Given the description of an element on the screen output the (x, y) to click on. 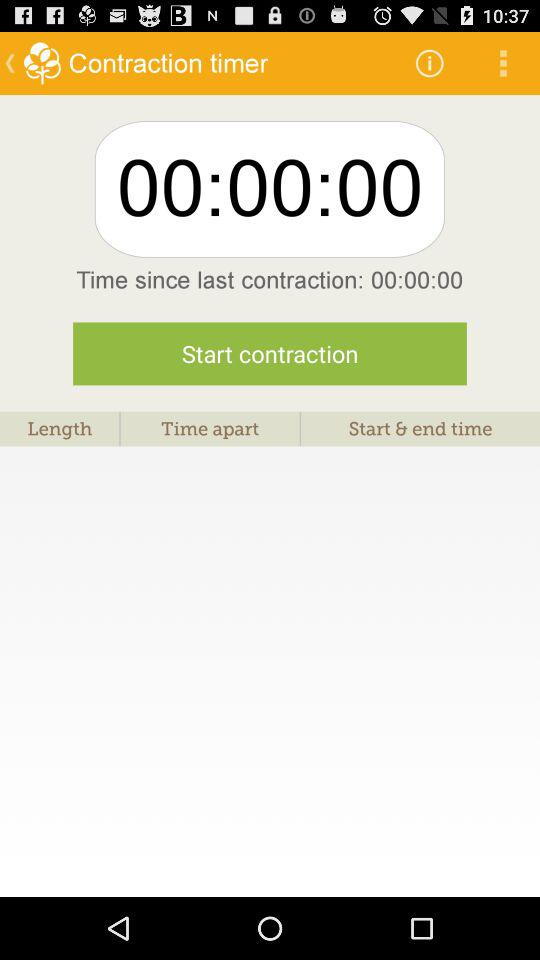
click the start contraction item (269, 353)
